Given the description of an element on the screen output the (x, y) to click on. 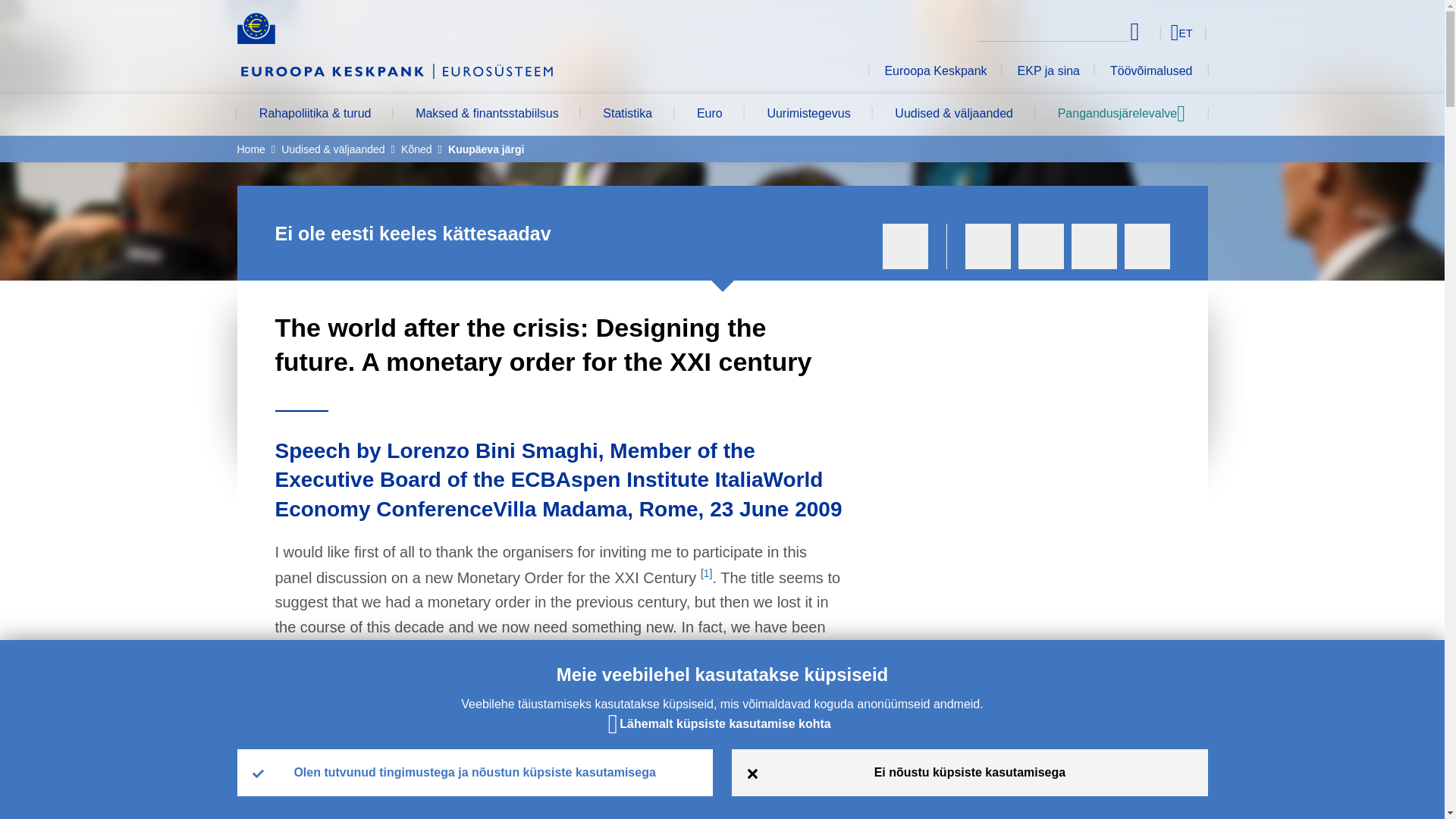
Select language (1153, 32)
